Given the description of an element on the screen output the (x, y) to click on. 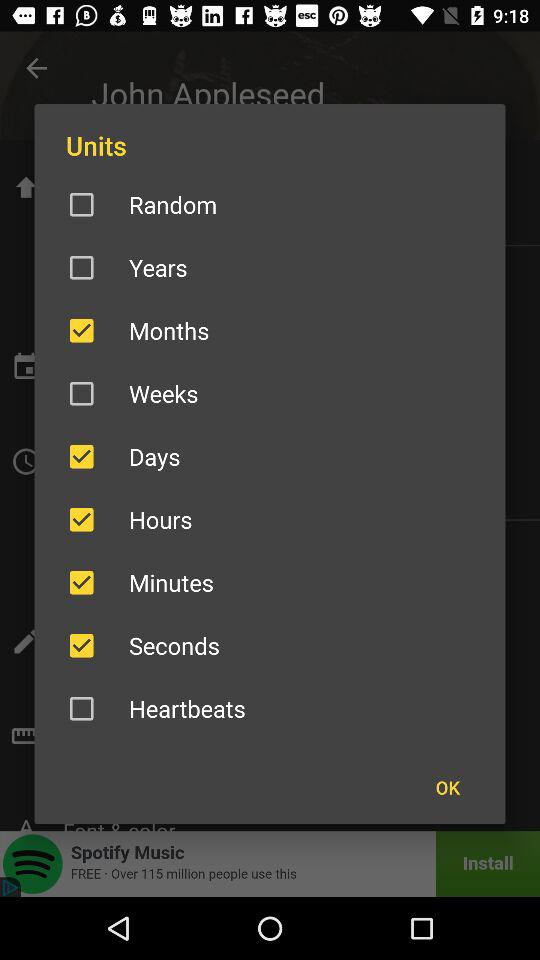
launch the ok icon (447, 787)
